Given the description of an element on the screen output the (x, y) to click on. 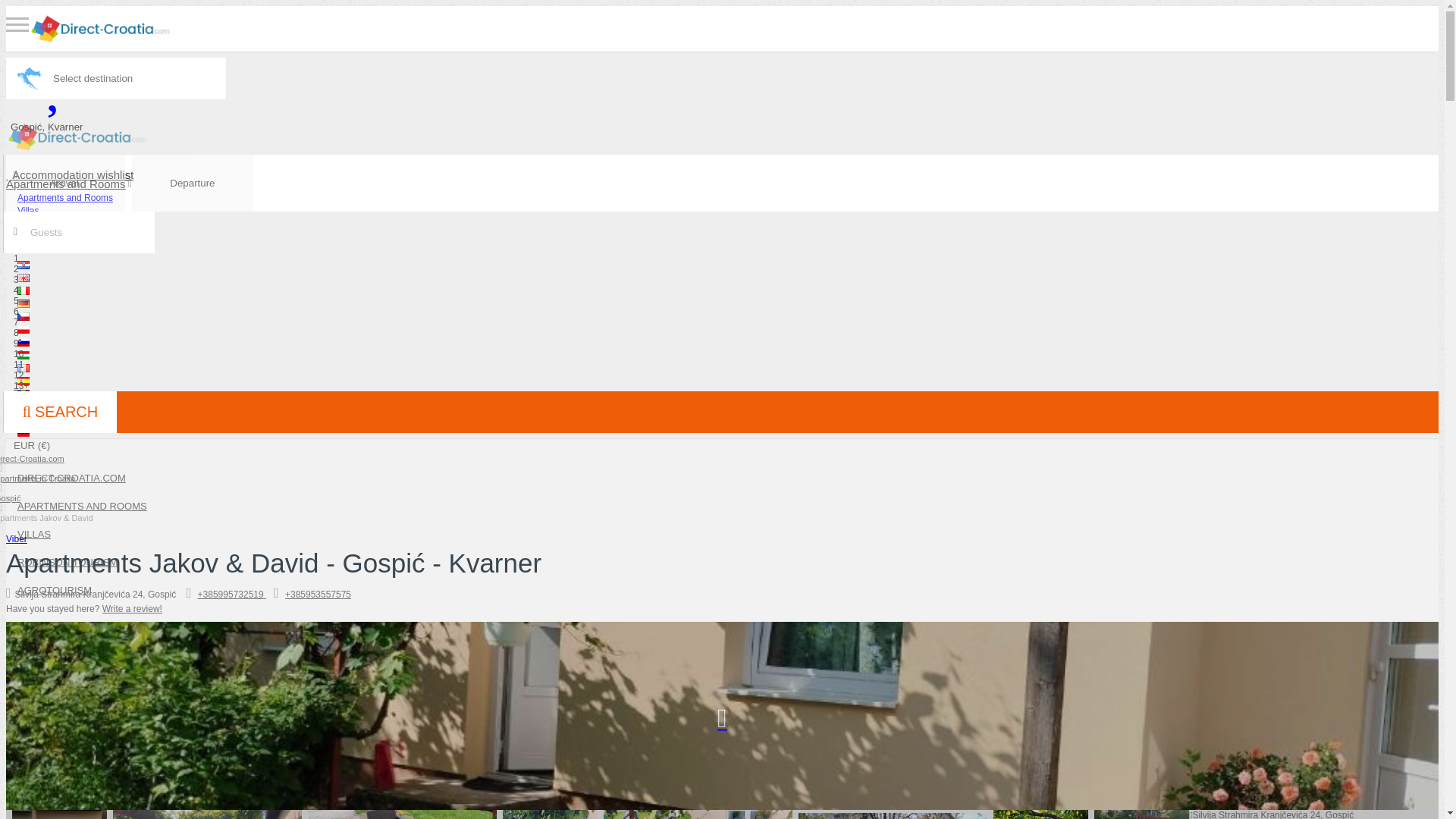
ROBINSON TOURISM (67, 562)
Apartments and Rooms (65, 183)
Guests (78, 232)
Apartments and Rooms (64, 198)
DIRECT-CROATIA.COM (71, 478)
APARTMENTS AND ROOMS (82, 505)
AGROTOURISM (54, 590)
Accommodation wishlist (74, 174)
Agrotourism (41, 236)
Villas (27, 210)
